Given the description of an element on the screen output the (x, y) to click on. 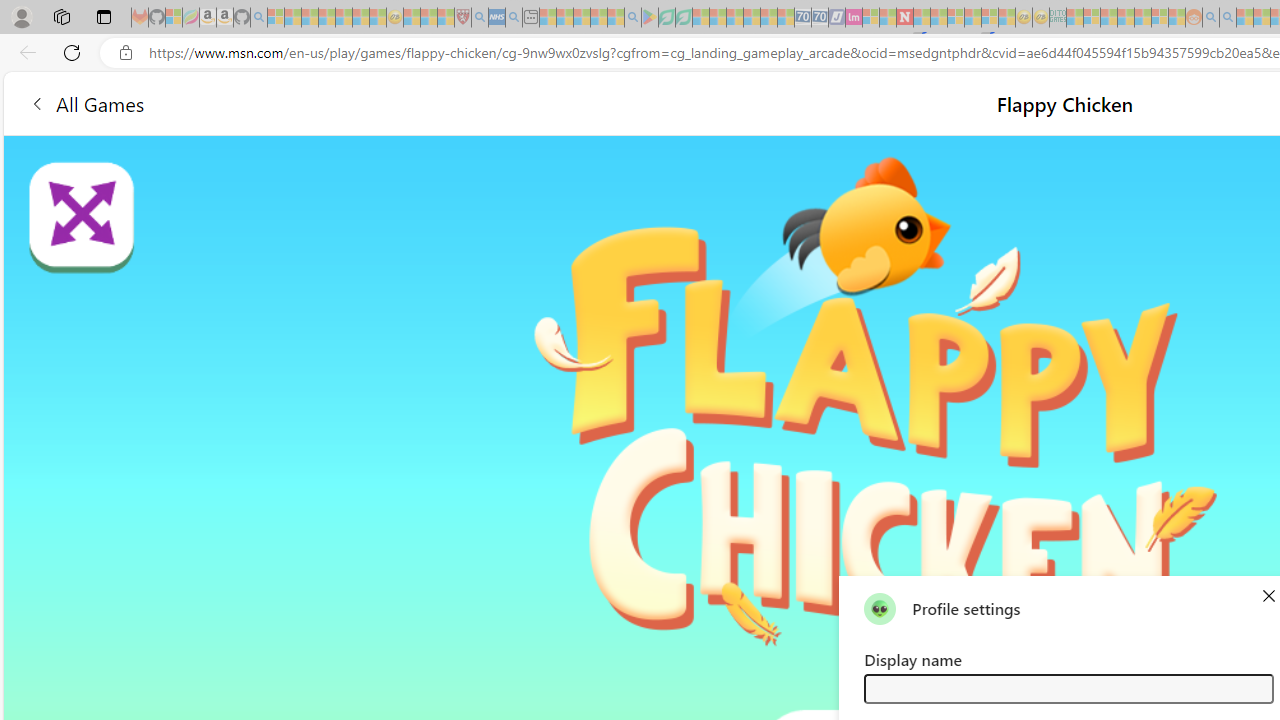
MSNBC - MSN - Sleeping (1074, 17)
google - Search - Sleeping (632, 17)
Kinda Frugal - MSN - Sleeping (1142, 17)
All Games (373, 102)
